Given the description of an element on the screen output the (x, y) to click on. 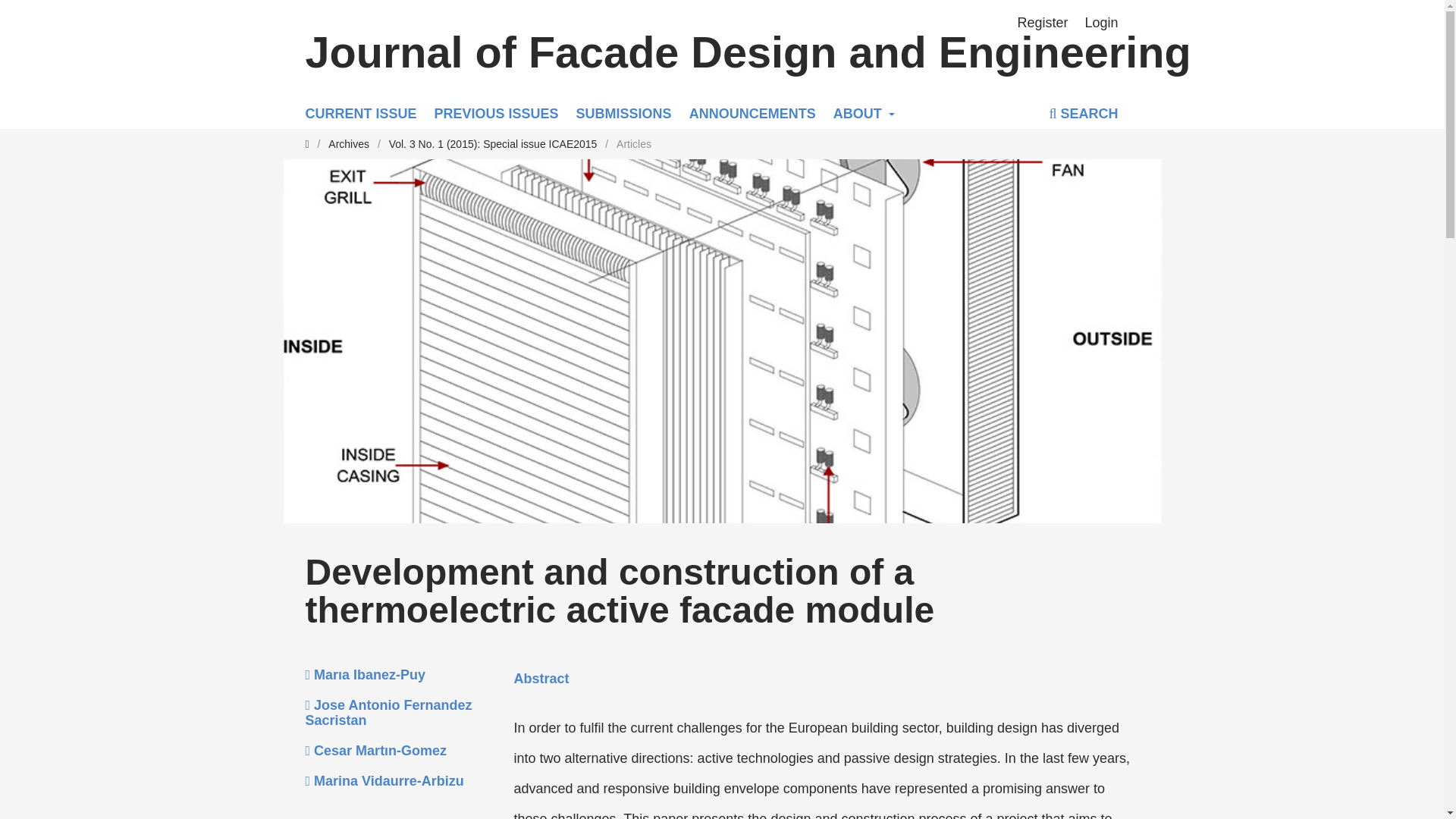
SEARCH (1083, 115)
SUBMISSIONS (623, 113)
ANNOUNCEMENTS (751, 113)
Register (1042, 22)
CURRENT ISSUE (360, 113)
Login (1101, 22)
ABOUT (863, 113)
Journal of Facade Design and Engineering (717, 53)
Archives (349, 143)
PREVIOUS ISSUES (496, 113)
